Given the description of an element on the screen output the (x, y) to click on. 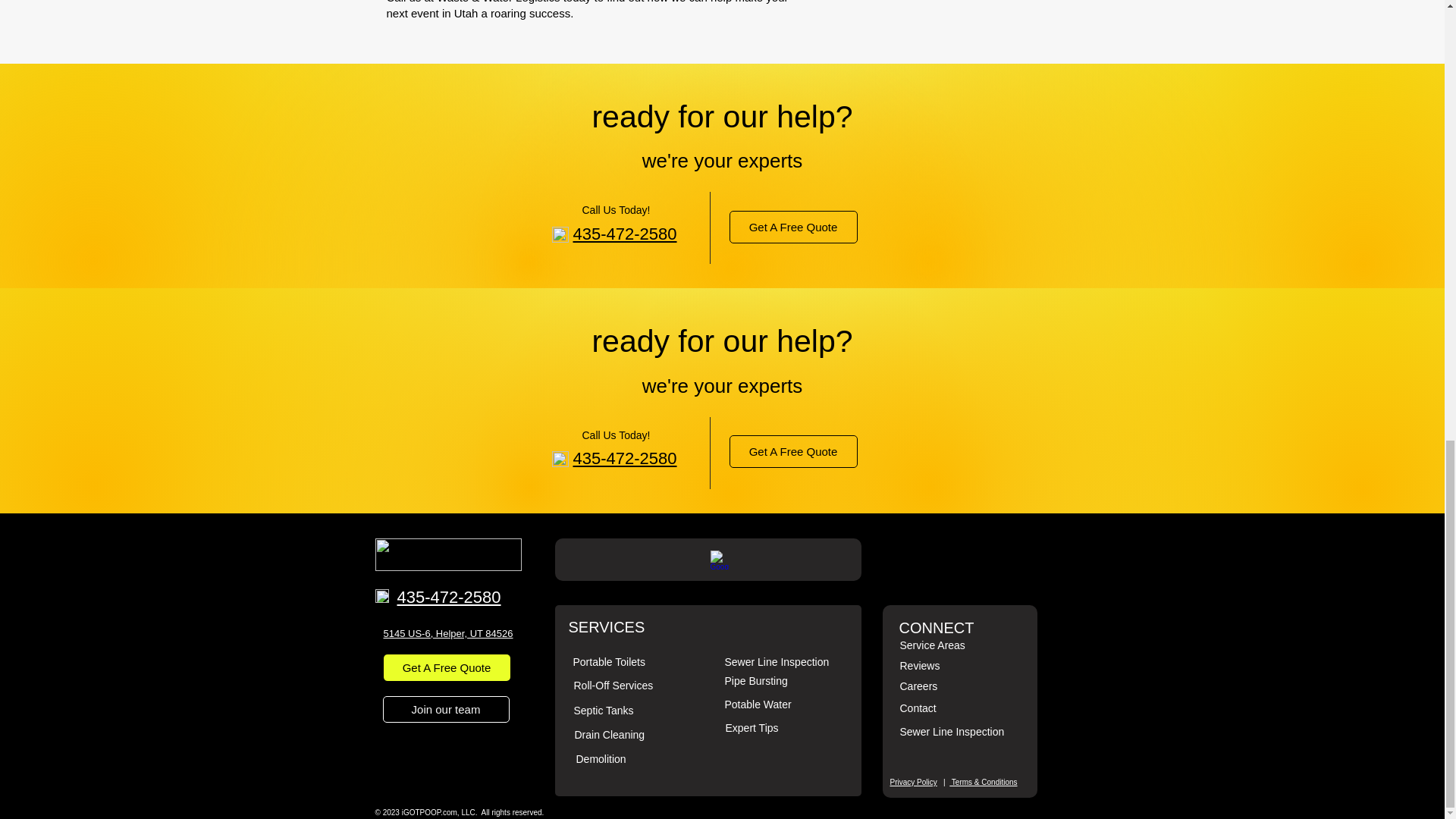
Join our team (444, 709)
Pipe Bursting (756, 680)
Get A Free Quote (447, 667)
Septic Tanks (603, 710)
Get A Free Quote (793, 226)
Get A Free Quote (793, 450)
Demolition (601, 758)
Potable Water (758, 704)
Portable Toilets (609, 662)
Drain Cleaning (610, 734)
Sewer Line Inspection (777, 662)
Roll-Off Services (612, 685)
Privacy Policy (913, 782)
435-472-2580 (448, 597)
Expert Tips (751, 727)
